Given the description of an element on the screen output the (x, y) to click on. 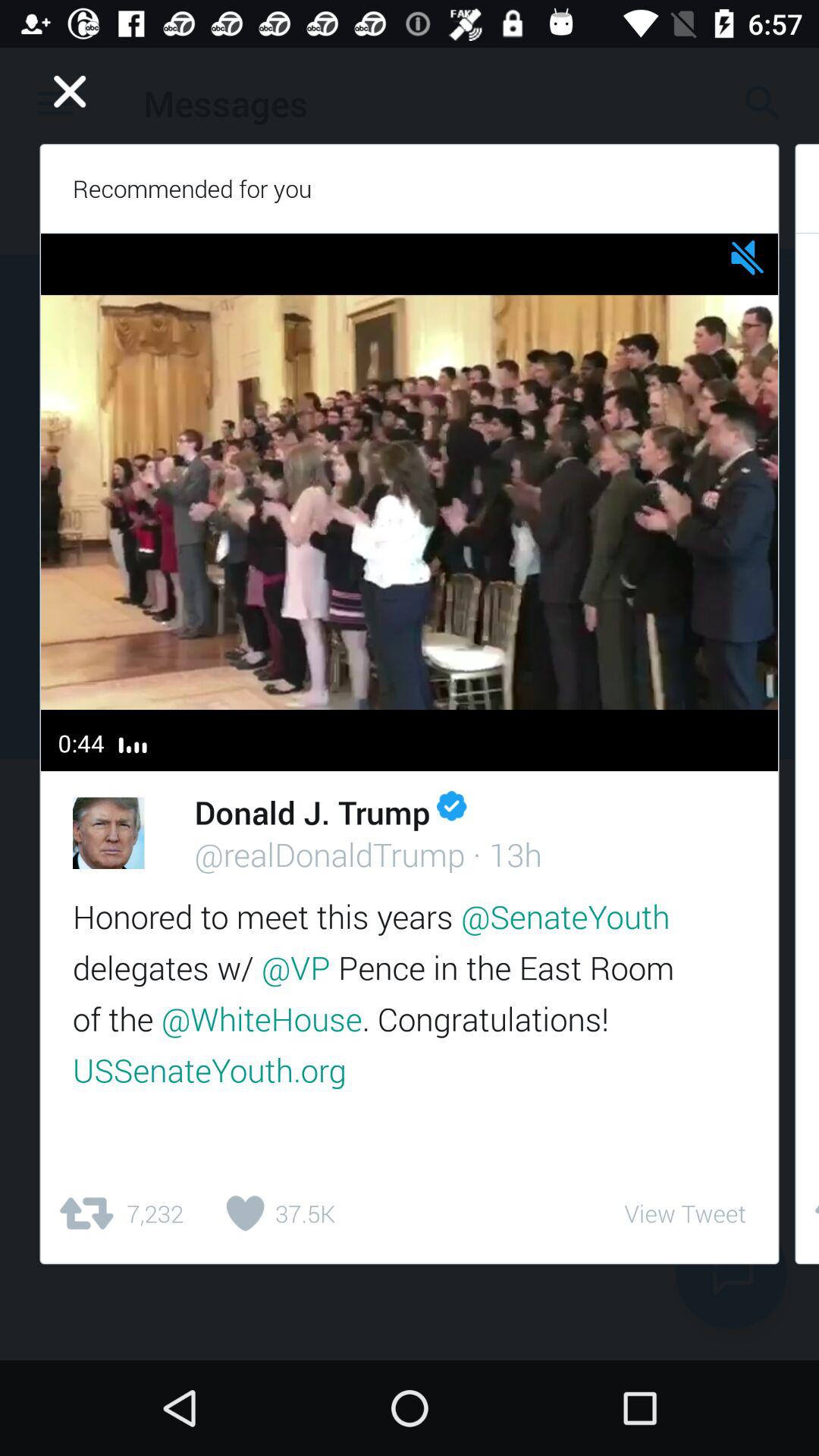
tap icon below honored to meet item (119, 1213)
